Given the description of an element on the screen output the (x, y) to click on. 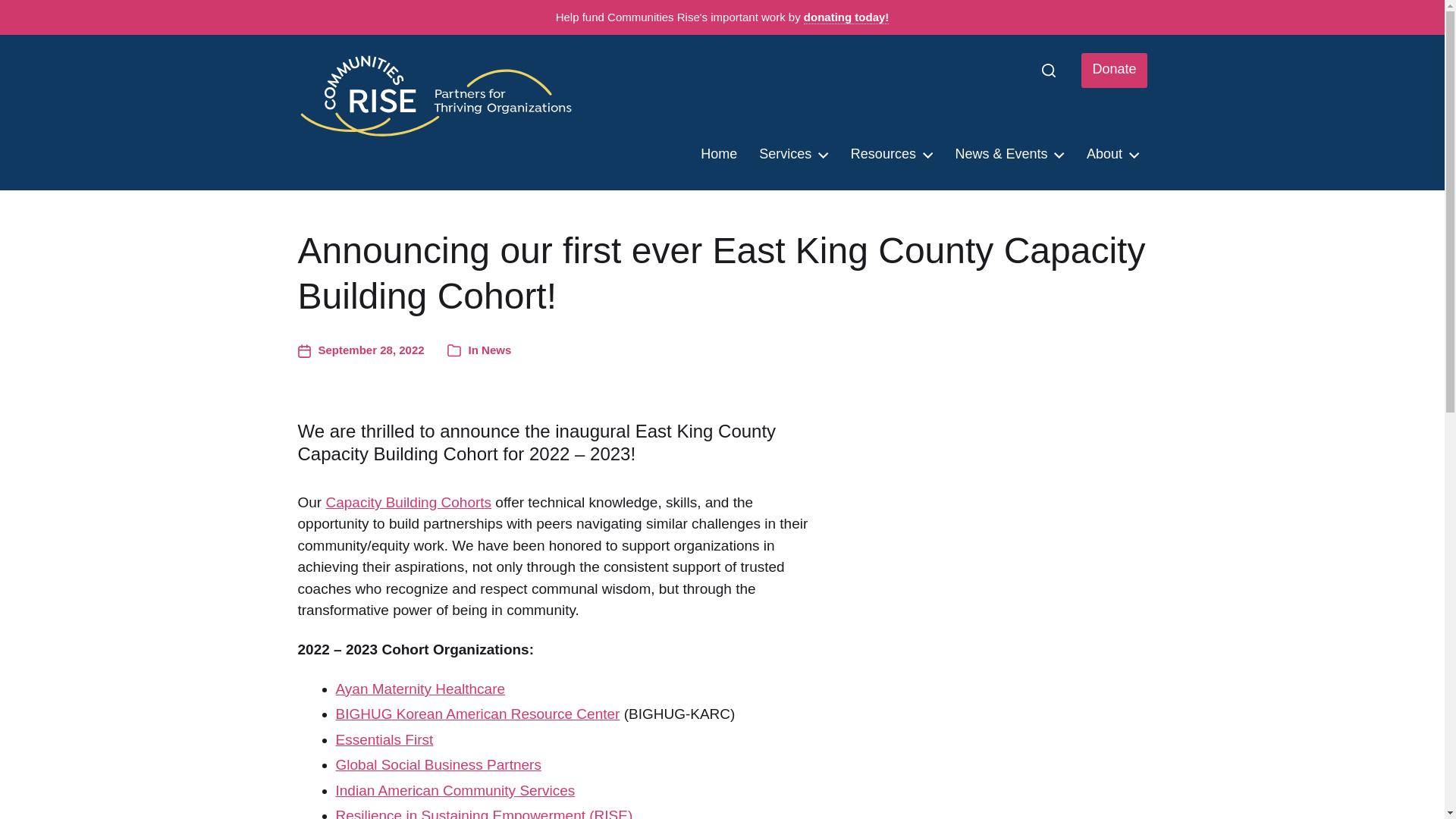
Home (718, 154)
Capacity Building Cohorts (408, 502)
Ayan Maternity Healthcare (419, 688)
Global Social Business Partners (437, 764)
About (1112, 154)
Services (793, 154)
Essentials First (383, 739)
Indian American Community Services (454, 790)
Donate (1114, 70)
BIGHUG Korean American Resource Center (477, 713)
